Given the description of an element on the screen output the (x, y) to click on. 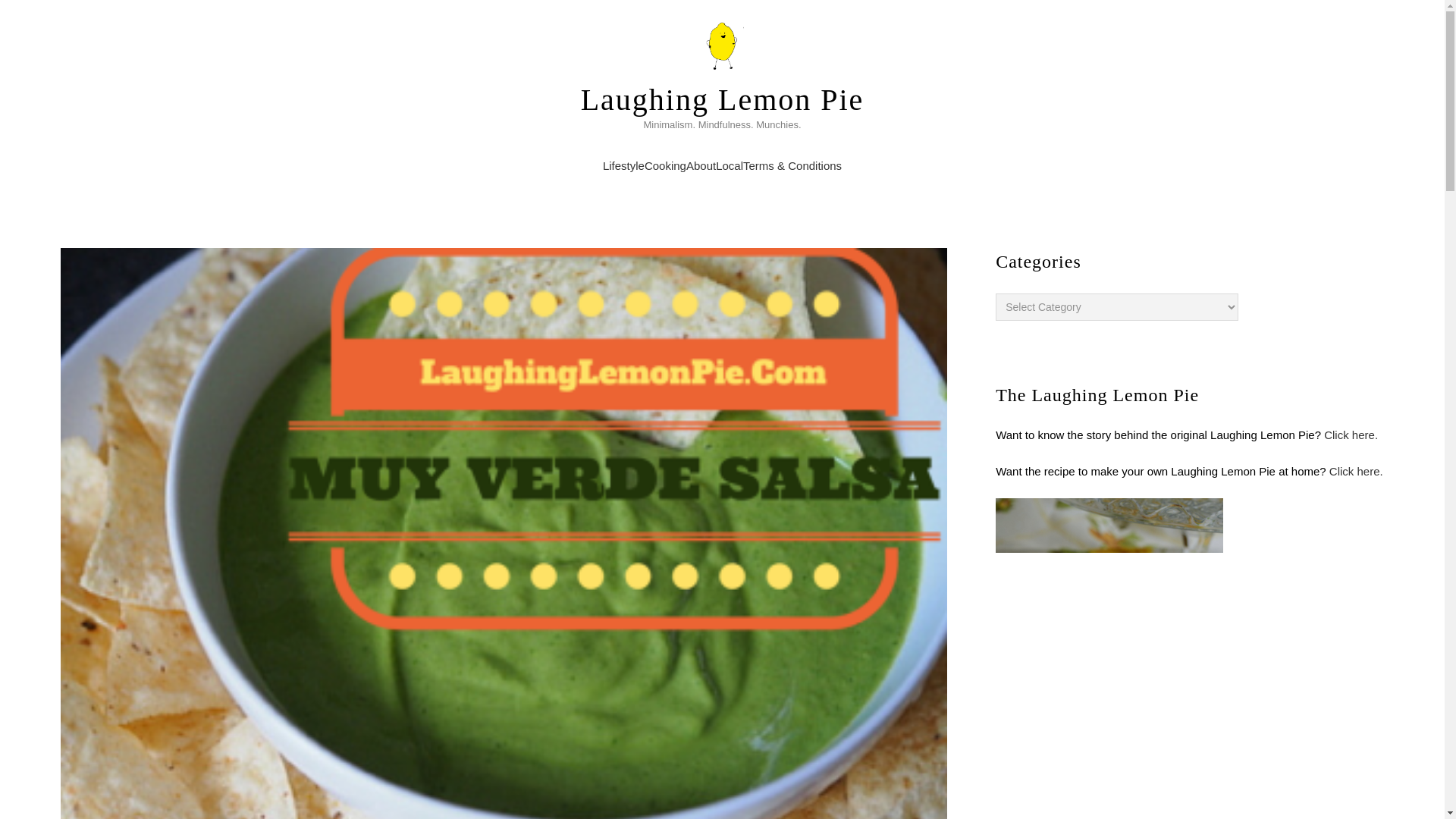
Local (729, 166)
Cooking (665, 166)
Lifestyle (623, 166)
Laughing Lemon Pie (722, 100)
About (700, 166)
